Given the description of an element on the screen output the (x, y) to click on. 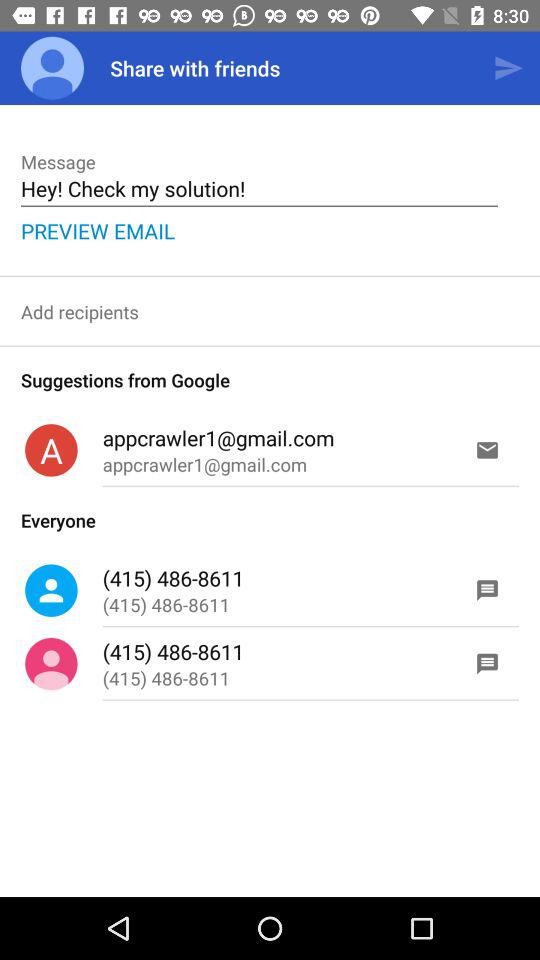
click on the blue colored text (97, 231)
select the blue icon which is left side of 415 4868611 (50, 590)
click on send button which is at top right corner of the page (508, 68)
click on the pink icon which is beside 415 4868611 at bottom of the page (50, 664)
